Given the description of an element on the screen output the (x, y) to click on. 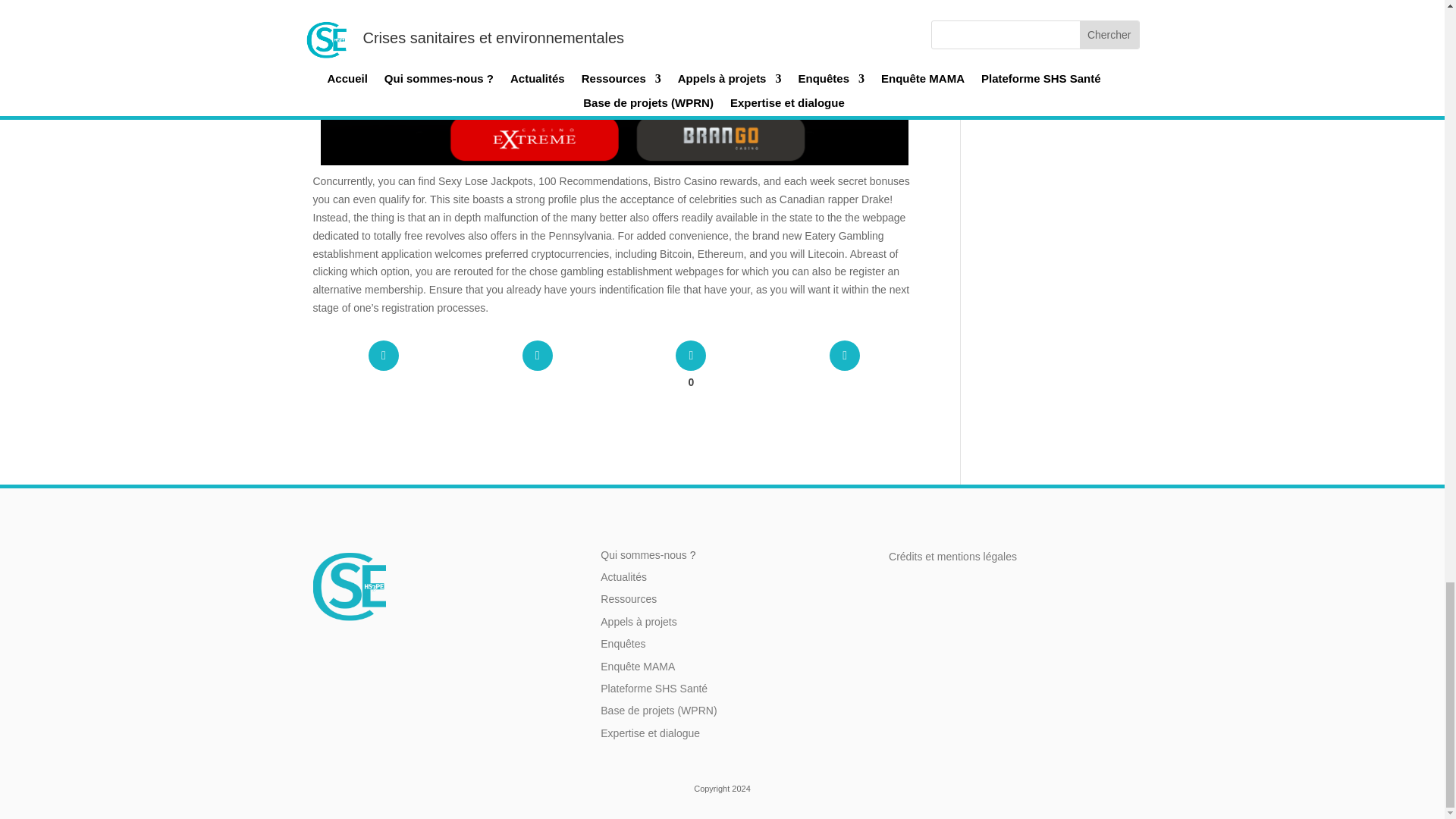
Qui somme nous ? (643, 554)
logoHS3PE (349, 585)
